Given the description of an element on the screen output the (x, y) to click on. 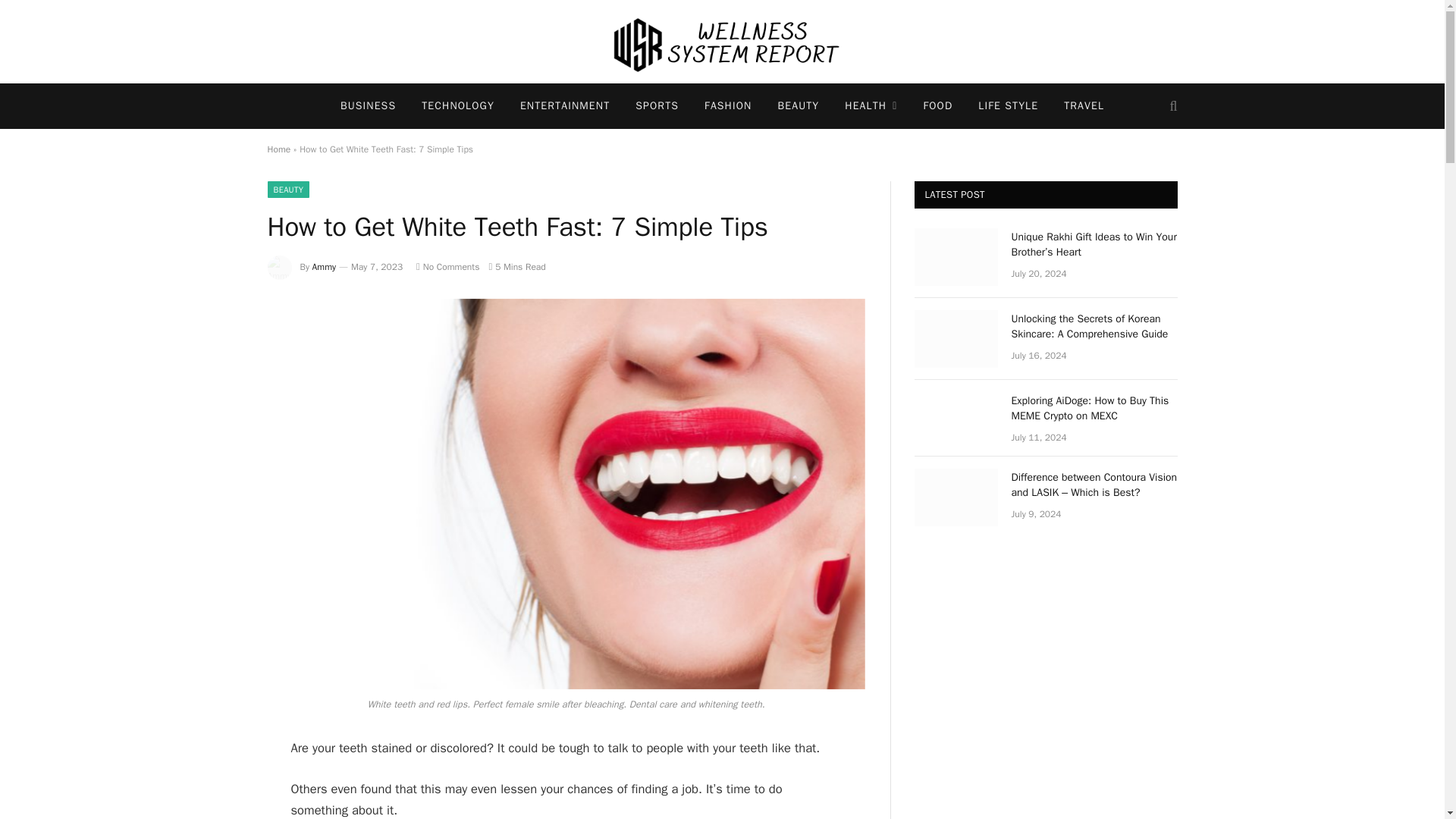
LIFE STYLE (1008, 105)
FASHION (727, 105)
HEALTH (870, 105)
Posts by Ammy (324, 266)
BUSINESS (368, 105)
BEAUTY (797, 105)
SPORTS (657, 105)
Home (277, 149)
ENTERTAINMENT (564, 105)
